Given the description of an element on the screen output the (x, y) to click on. 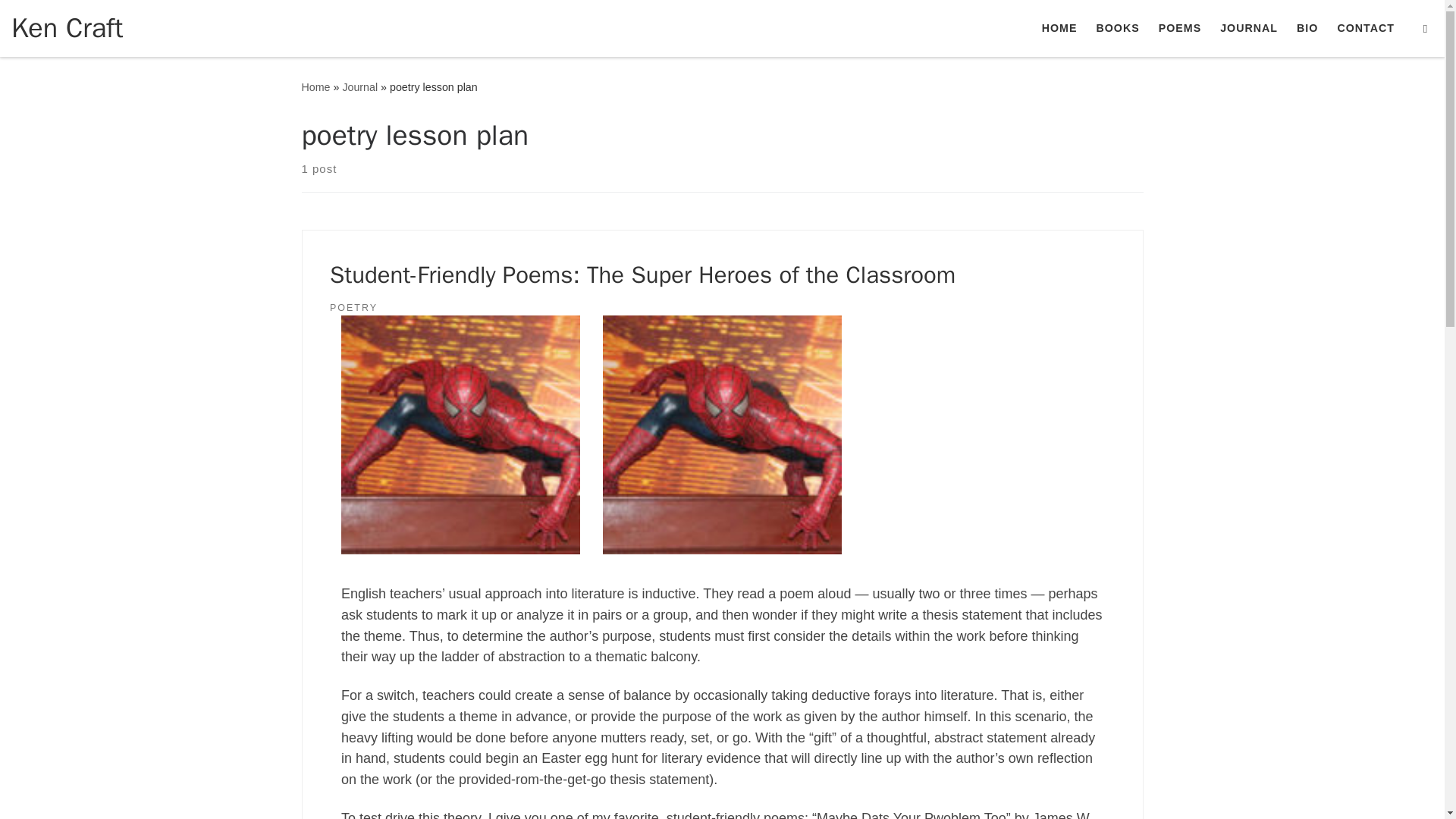
HOME (1058, 28)
JOURNAL (1248, 28)
CONTACT (1365, 28)
BOOKS (1117, 28)
View all posts in poetry (353, 308)
Home (315, 87)
Skip to content (60, 20)
BIO (1307, 28)
Ken Craft (66, 27)
Journal (359, 87)
